Given the description of an element on the screen output the (x, y) to click on. 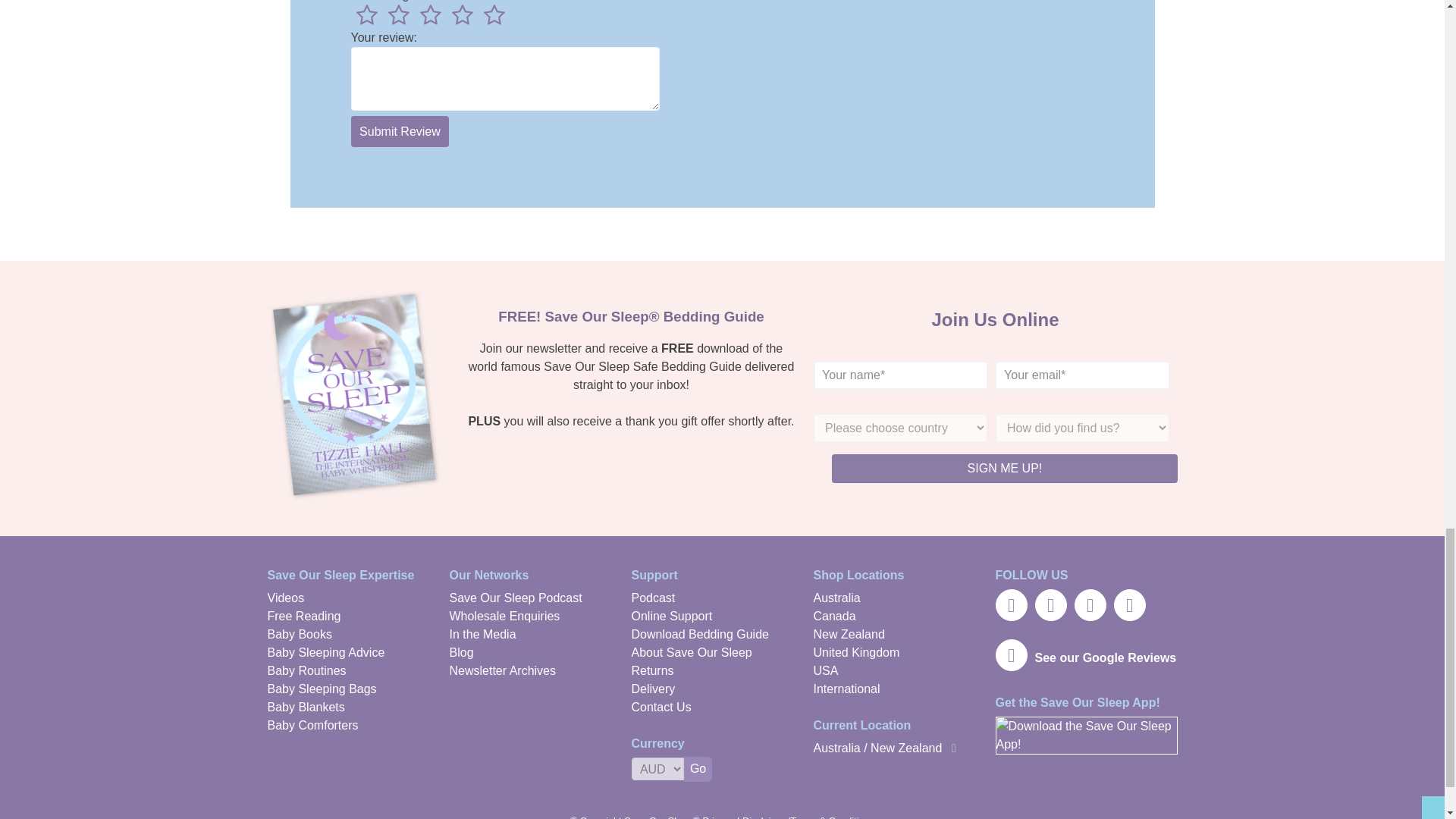
facebook (1049, 604)
Rating 5 (493, 16)
Go (697, 769)
SIGN ME UP! (1003, 468)
Rating 2 (397, 16)
Submit Review (399, 131)
Rating 3 (429, 16)
Twitter (1010, 604)
Rating 4 (461, 16)
Instagram (1128, 604)
YouTube (1089, 604)
United States of America (825, 670)
Rating 1 (365, 16)
